Given the description of an element on the screen output the (x, y) to click on. 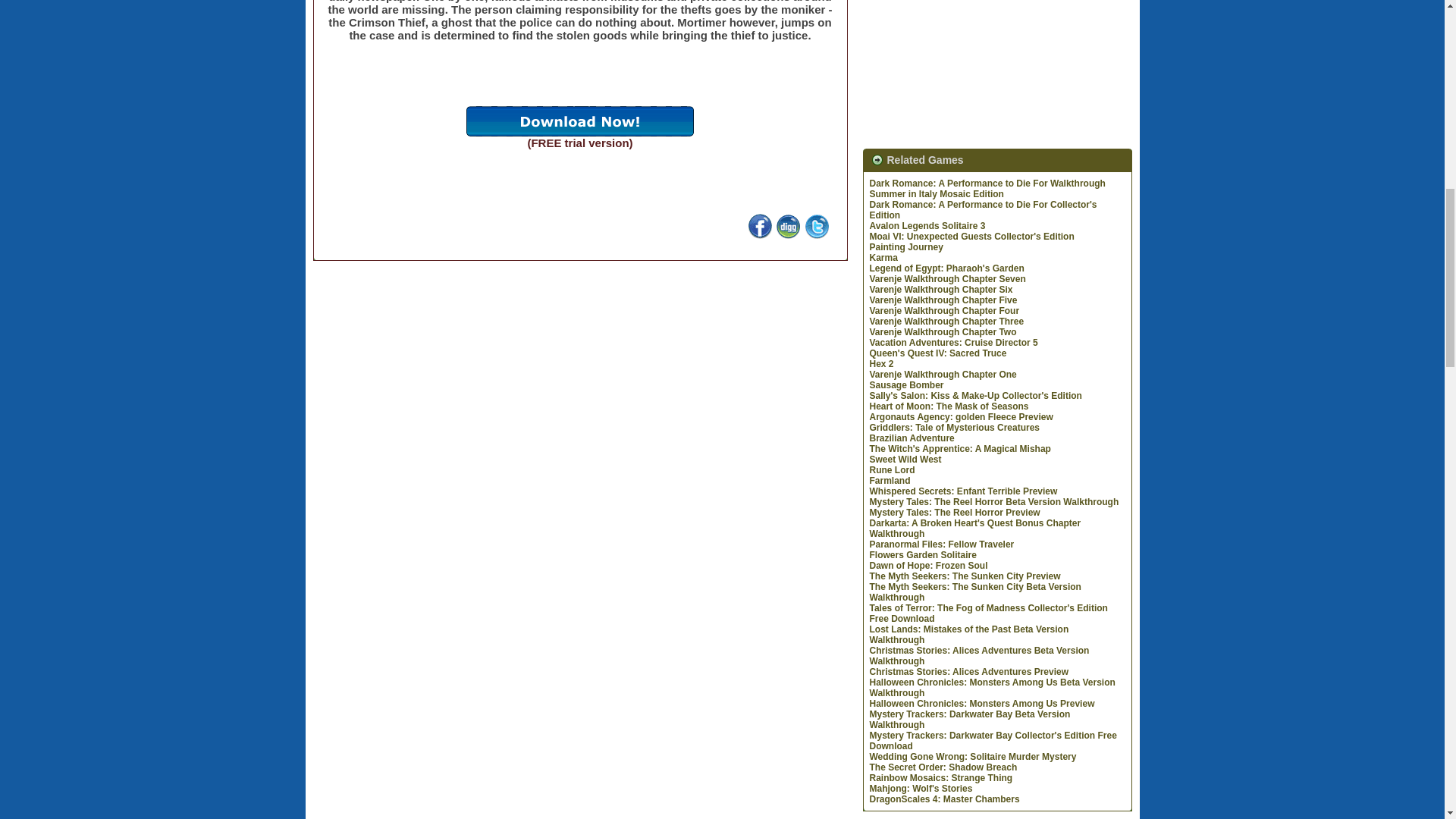
Mortimer Beckett and the Crimson Thief (579, 121)
Karma (882, 257)
Mortimer Beckett and the Crimson Thief (579, 137)
Varenje Walkthrough Chapter Seven (947, 278)
Moai VI: Unexpected Guests Collector's Edition (971, 235)
Summer in Italy Mosaic Edition (936, 194)
Legend of Egypt: Pharaoh's Garden (946, 267)
Varenje Walkthrough Chapter Six (940, 289)
Varenje Walkthrough Chapter Five (942, 299)
Painting Journey (905, 246)
